Given the description of an element on the screen output the (x, y) to click on. 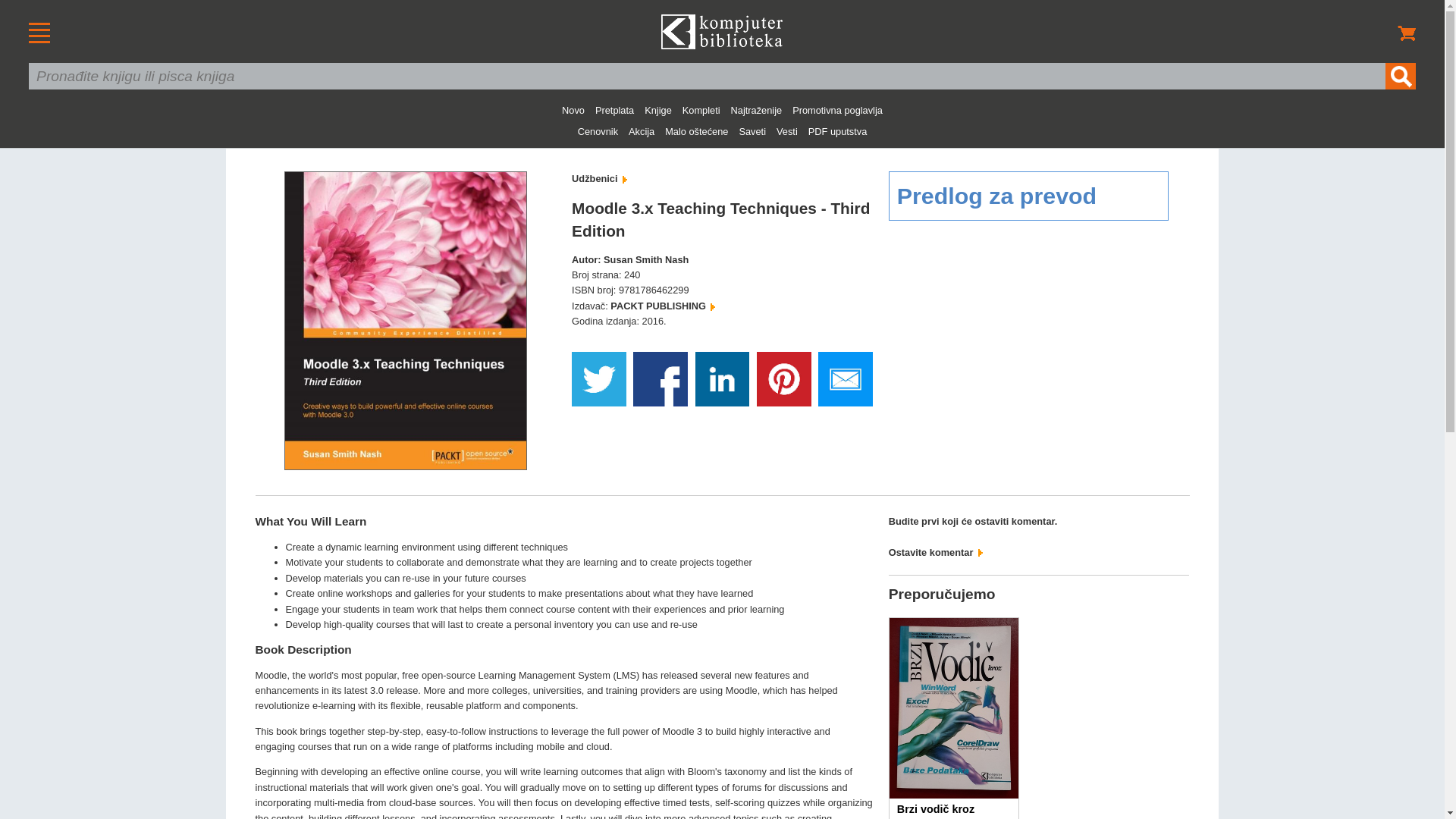
Pinterest (783, 378)
Kompjuter biblioteka (722, 32)
Knjige (658, 110)
PACKT PUBLISHING (663, 306)
PDF uputstva (837, 131)
Promotivna poglavlja (837, 110)
Kompleti (701, 110)
Facebook (660, 378)
Twitter (599, 378)
Novo (573, 110)
